Given the description of an element on the screen output the (x, y) to click on. 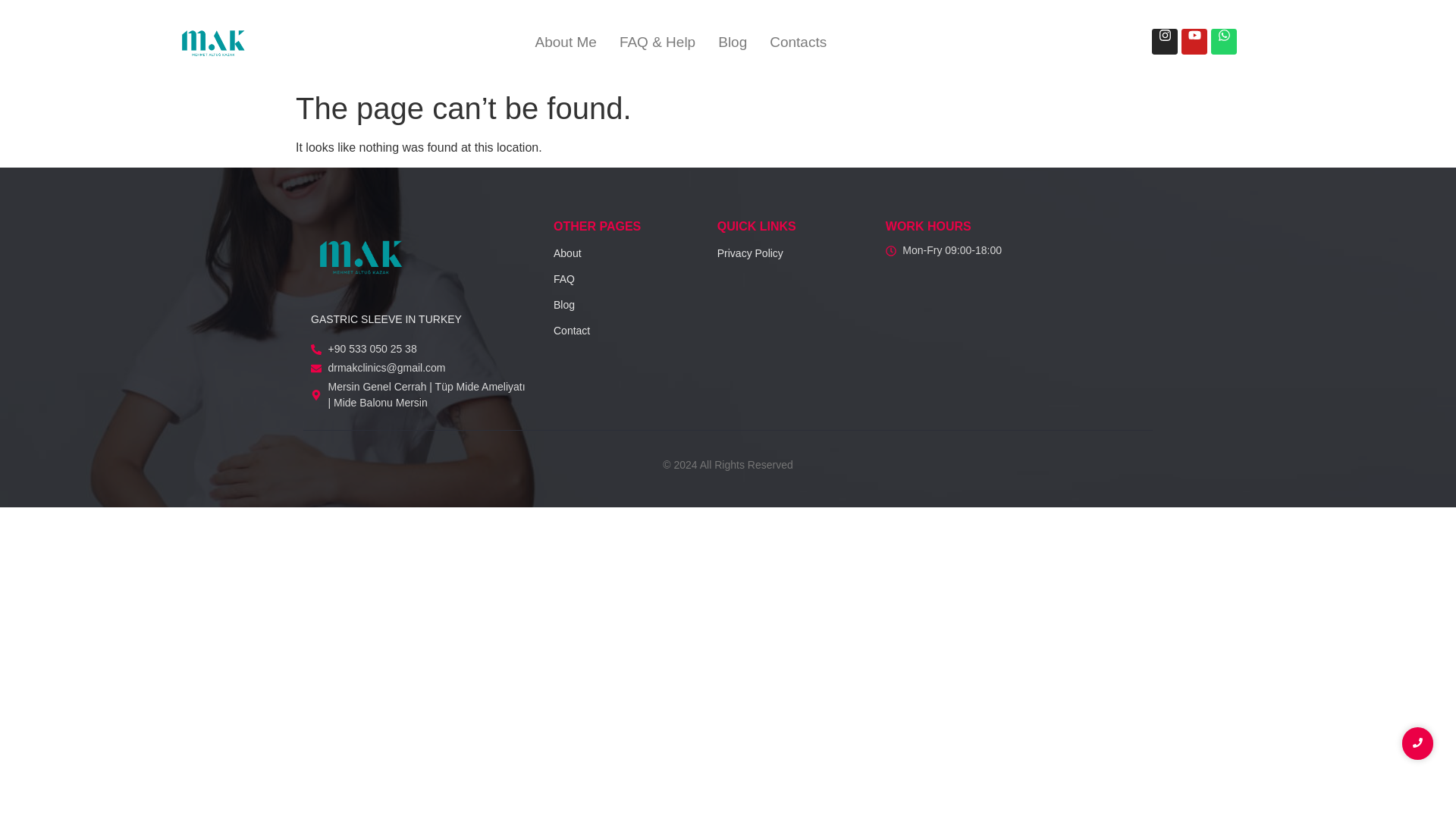
About (566, 253)
Blog (564, 304)
About Me (566, 41)
Privacy Policy (750, 253)
Contacts (798, 41)
Blog (732, 41)
FAQ (564, 278)
Contact (571, 330)
